Given the description of an element on the screen output the (x, y) to click on. 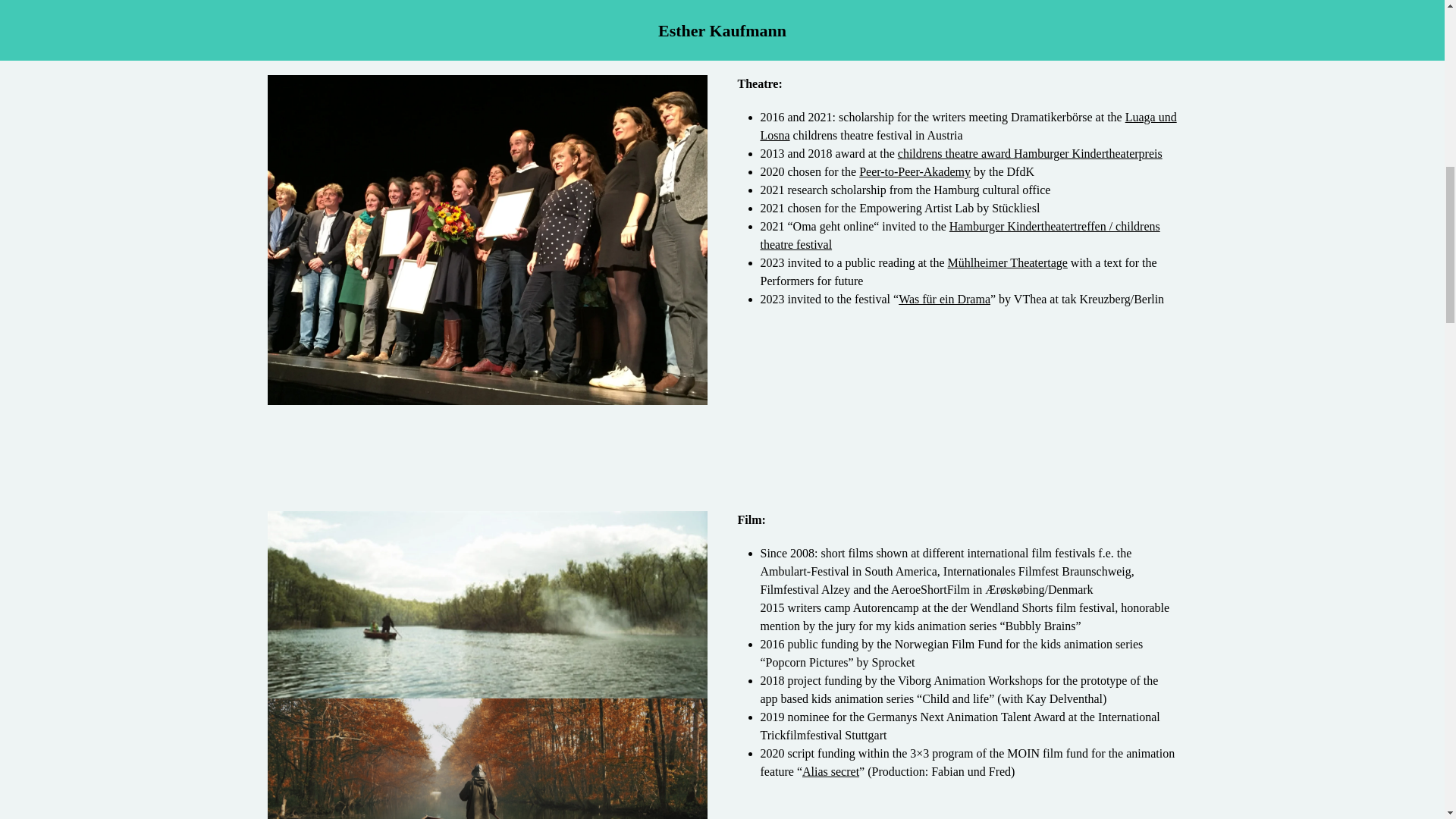
Peer-to-Peer-Akademy (915, 171)
childrens theatre award Hamburger Kindertheaterpreis (1029, 153)
Alias secret (830, 771)
Luaga und Losna (968, 125)
